Given the description of an element on the screen output the (x, y) to click on. 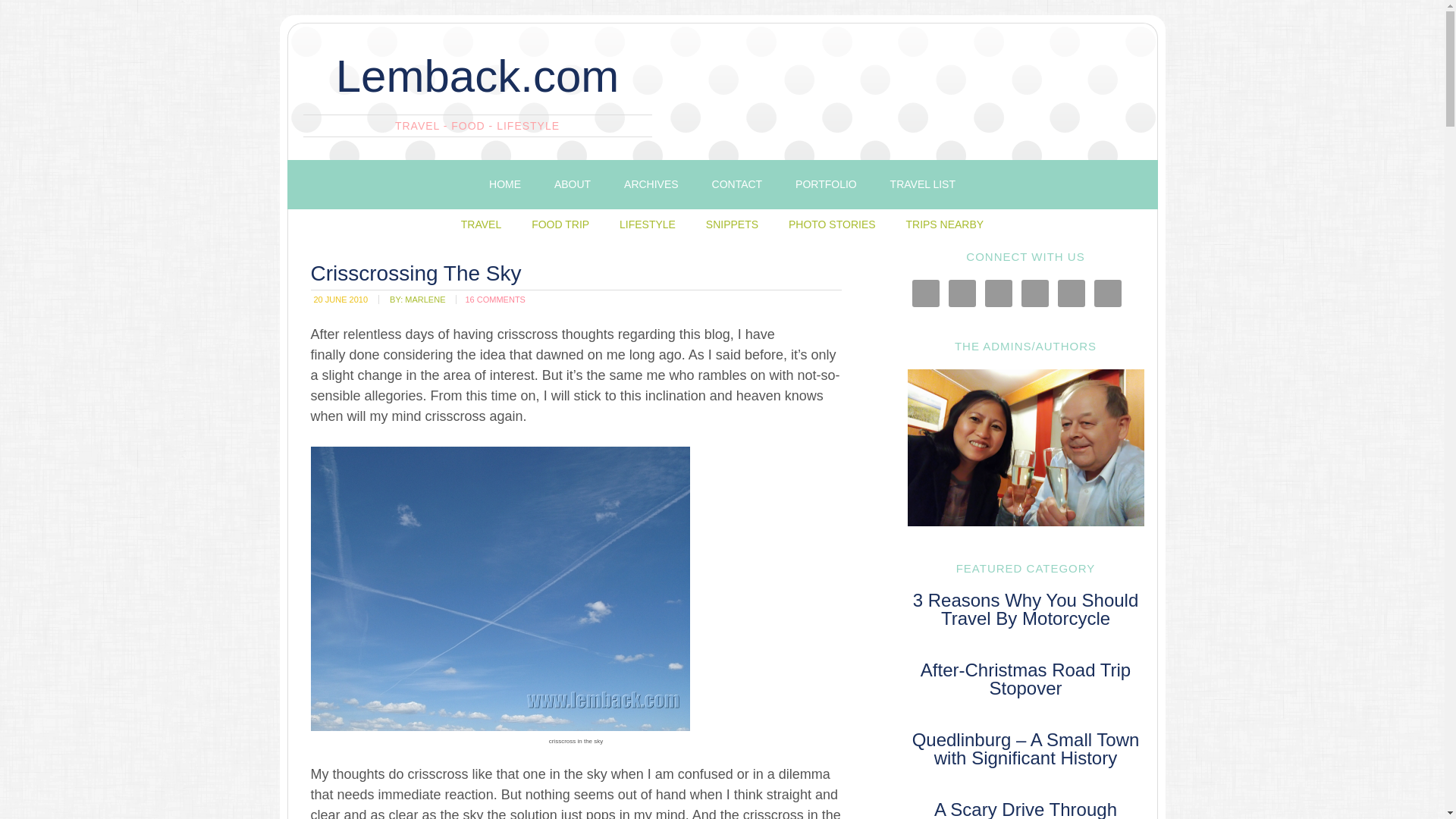
ARCHIVES (651, 184)
PHOTO STORIES (831, 224)
PORTFOLIO (826, 184)
SNIPPETS (732, 224)
CONTACT (737, 184)
TRIPS NEARBY (944, 224)
crisscross-sky (500, 587)
ABOUT (571, 184)
FOOD TRIP (560, 224)
Lemback.com (477, 75)
LIFESTYLE (646, 224)
16 COMMENTS (494, 298)
HOME (504, 184)
TRAVEL (480, 224)
TRAVEL LIST (923, 184)
